Given the description of an element on the screen output the (x, y) to click on. 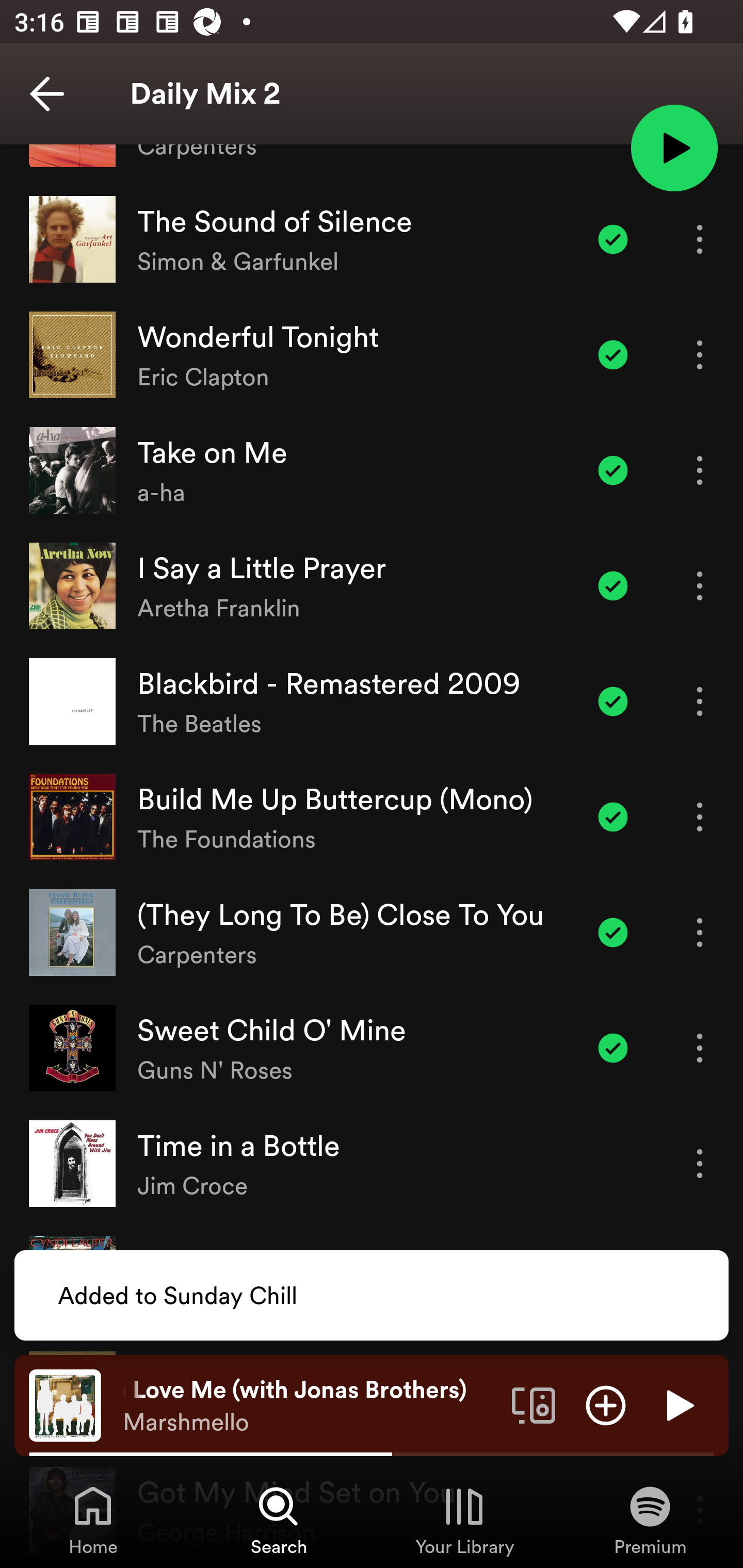
Back (46, 93)
Play playlist (674, 147)
Item added (612, 239)
More options for song The Sound of Silence (699, 239)
Item added (612, 355)
More options for song Wonderful Tonight (699, 355)
Item added (612, 470)
More options for song Take on Me (699, 470)
Item added (612, 585)
More options for song I Say a Little Prayer (699, 585)
Item added (612, 701)
More options for song Blackbird - Remastered 2009 (699, 701)
Item added (612, 816)
More options for song Build Me Up Buttercup (Mono) (699, 816)
